Given the description of an element on the screen output the (x, y) to click on. 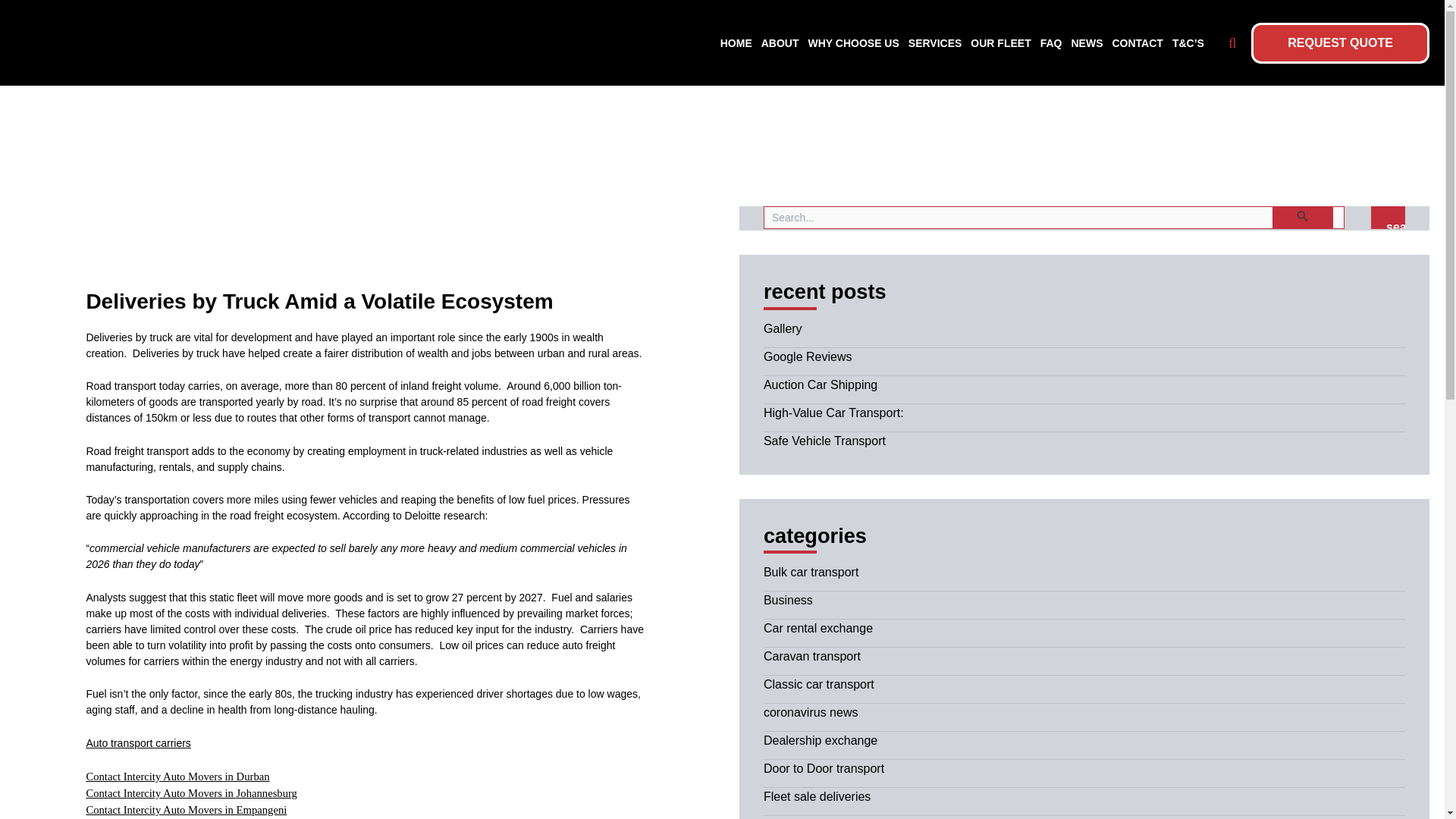
Search (1388, 217)
NEWS (1086, 42)
OUR FLEET (1000, 42)
Search (1388, 217)
WHY CHOOSE US (853, 42)
ABOUT (780, 42)
HOME (736, 42)
SERVICES (935, 42)
CONTACT (1136, 42)
